Given the description of an element on the screen output the (x, y) to click on. 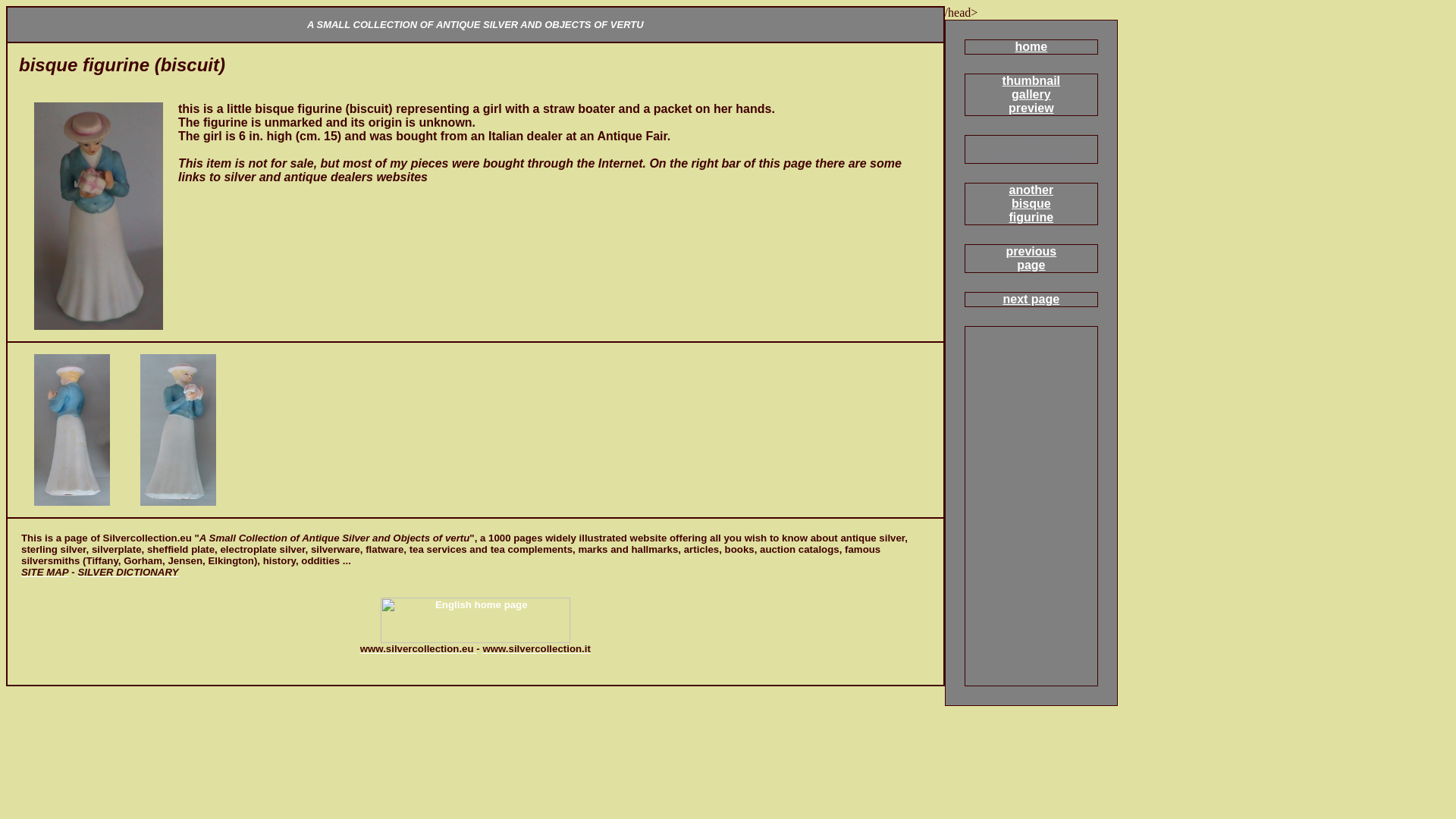
Advertisement (1031, 257)
home (196, 96)
SITE MAP (1030, 46)
next page (185, 577)
SILVER DICTIONARY (1031, 298)
www.silvercollection.it (127, 572)
Advertisement (1030, 203)
www.silvercollection.eu (536, 648)
